Given the description of an element on the screen output the (x, y) to click on. 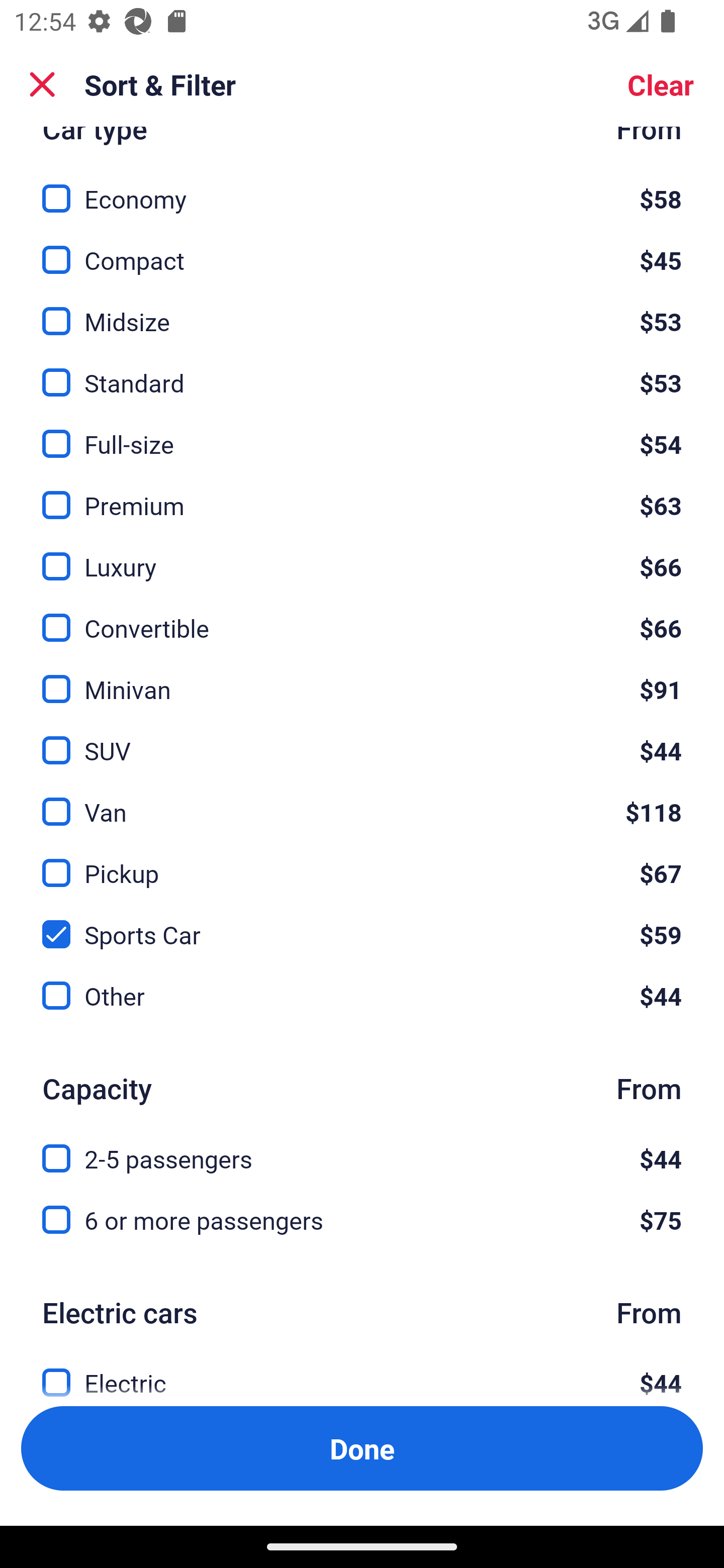
Close Sort and Filter (42, 84)
Clear (660, 84)
Economy, $58 Economy $58 (361, 186)
Compact, $45 Compact $45 (361, 248)
Midsize, $53 Midsize $53 (361, 309)
Standard, $53 Standard $53 (361, 370)
Full-size, $54 Full-size $54 (361, 432)
Premium, $63 Premium $63 (361, 494)
Luxury, $66 Luxury $66 (361, 555)
Convertible, $66 Convertible $66 (361, 616)
Minivan, $91 Minivan $91 (361, 677)
SUV, $44 SUV $44 (361, 738)
Van, $118 Van $118 (361, 800)
Pickup, $67 Pickup $67 (361, 861)
Sports Car, $59 Sports Car $59 (361, 922)
Other, $44 Other $44 (361, 995)
2-5 passengers, $44 2-5 passengers $44 (361, 1146)
6 or more passengers, $75 6 or more passengers $75 (361, 1219)
Electric, $44 Electric $44 (361, 1370)
Apply and close Sort and Filter Done (361, 1448)
